Given the description of an element on the screen output the (x, y) to click on. 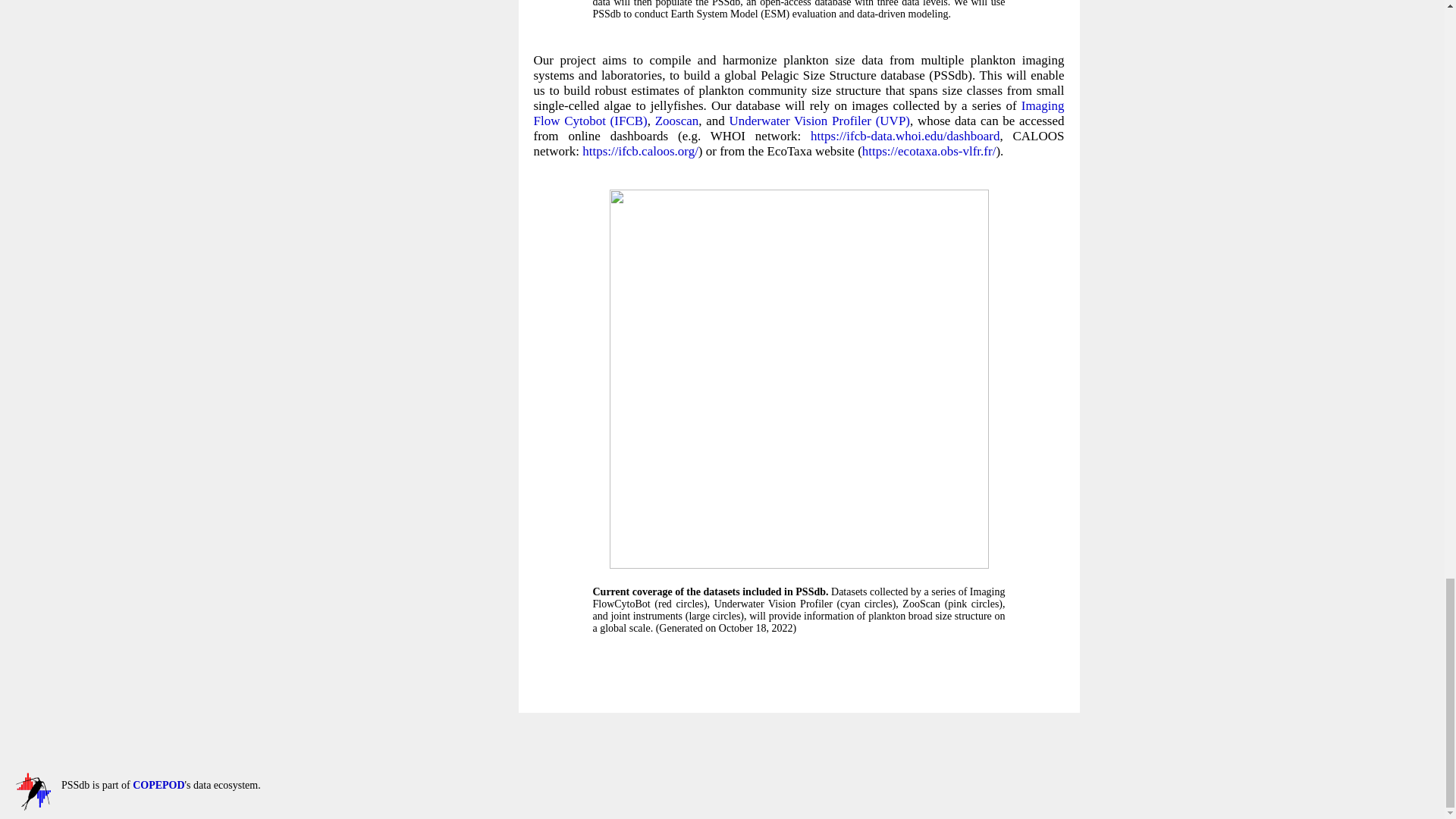
COPEPOD (158, 785)
Zooscan (676, 120)
click to zoom (799, 564)
COPEPOD (33, 806)
